Given the description of an element on the screen output the (x, y) to click on. 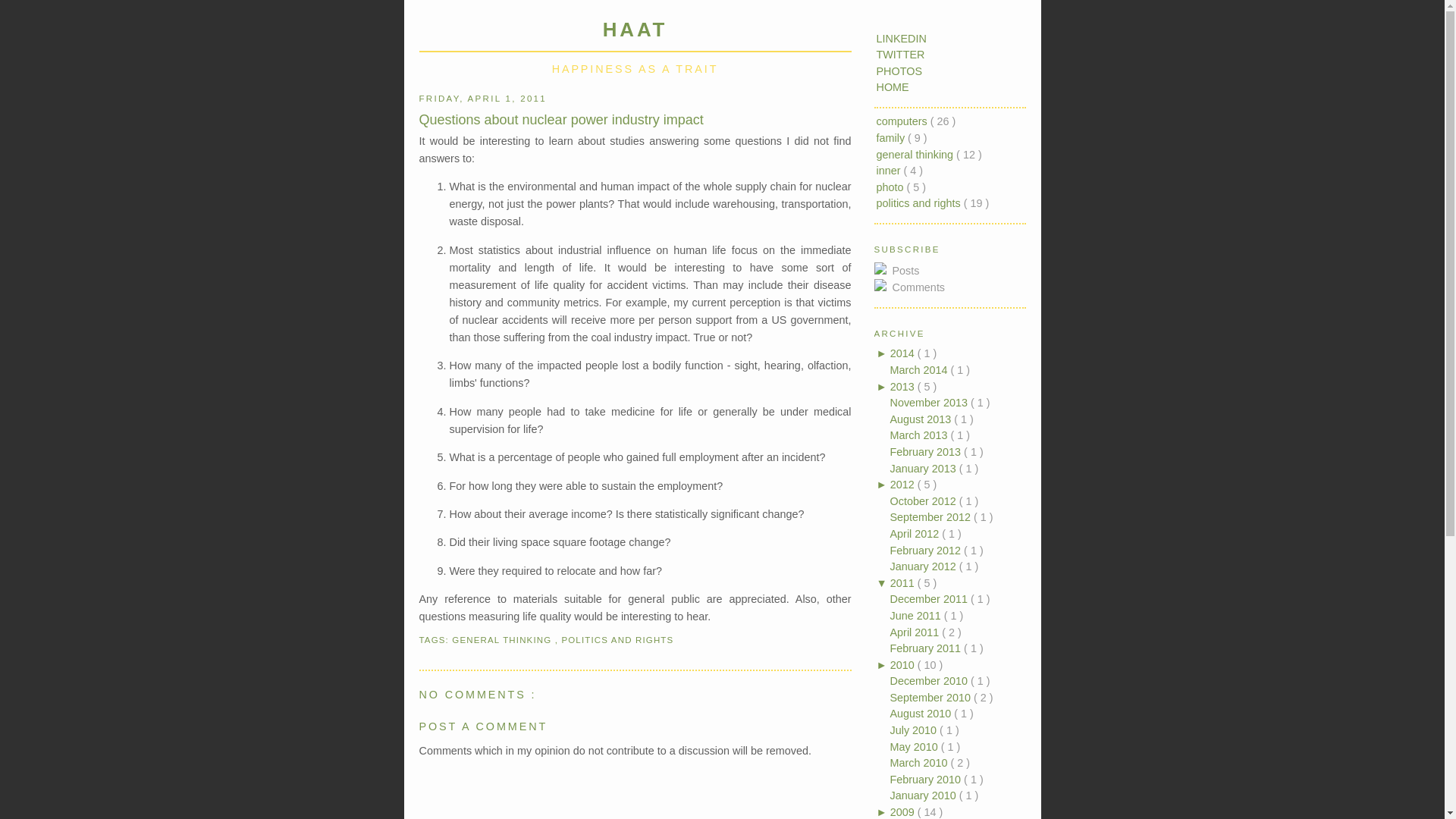
LINKEDIN (901, 38)
2014 (903, 353)
HOME (892, 87)
politics and rights (919, 203)
PHOTOS (899, 70)
Questions about nuclear power industry impact (634, 119)
computers (903, 121)
photo (891, 186)
August 2013 (922, 419)
HAAT (635, 29)
family (892, 137)
March 2013 (919, 435)
POLITICS AND RIGHTS (616, 639)
TWITTER (900, 54)
November 2013 (930, 402)
